Given the description of an element on the screen output the (x, y) to click on. 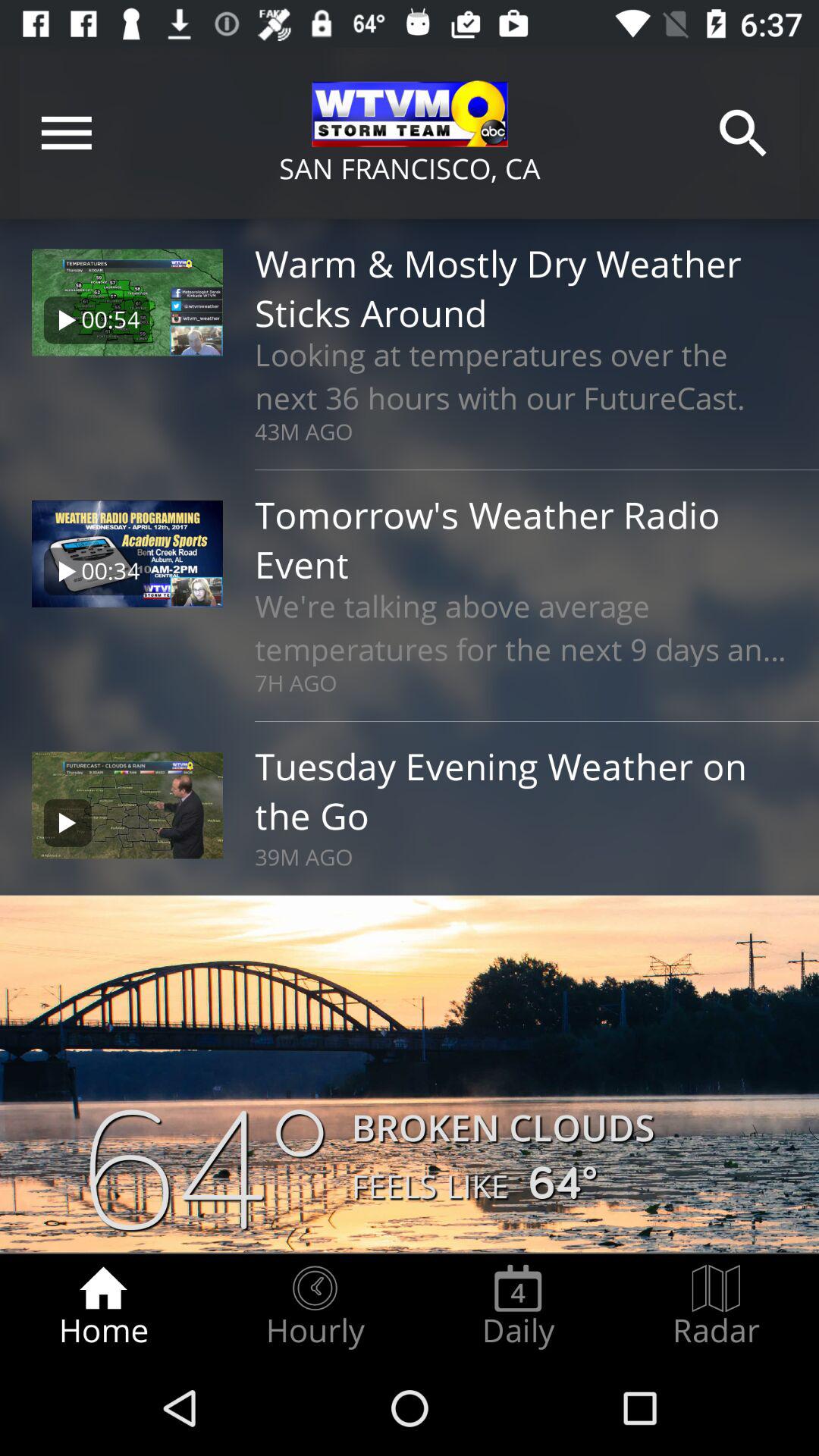
click the radio button to the right of the home radio button (315, 1307)
